Given the description of an element on the screen output the (x, y) to click on. 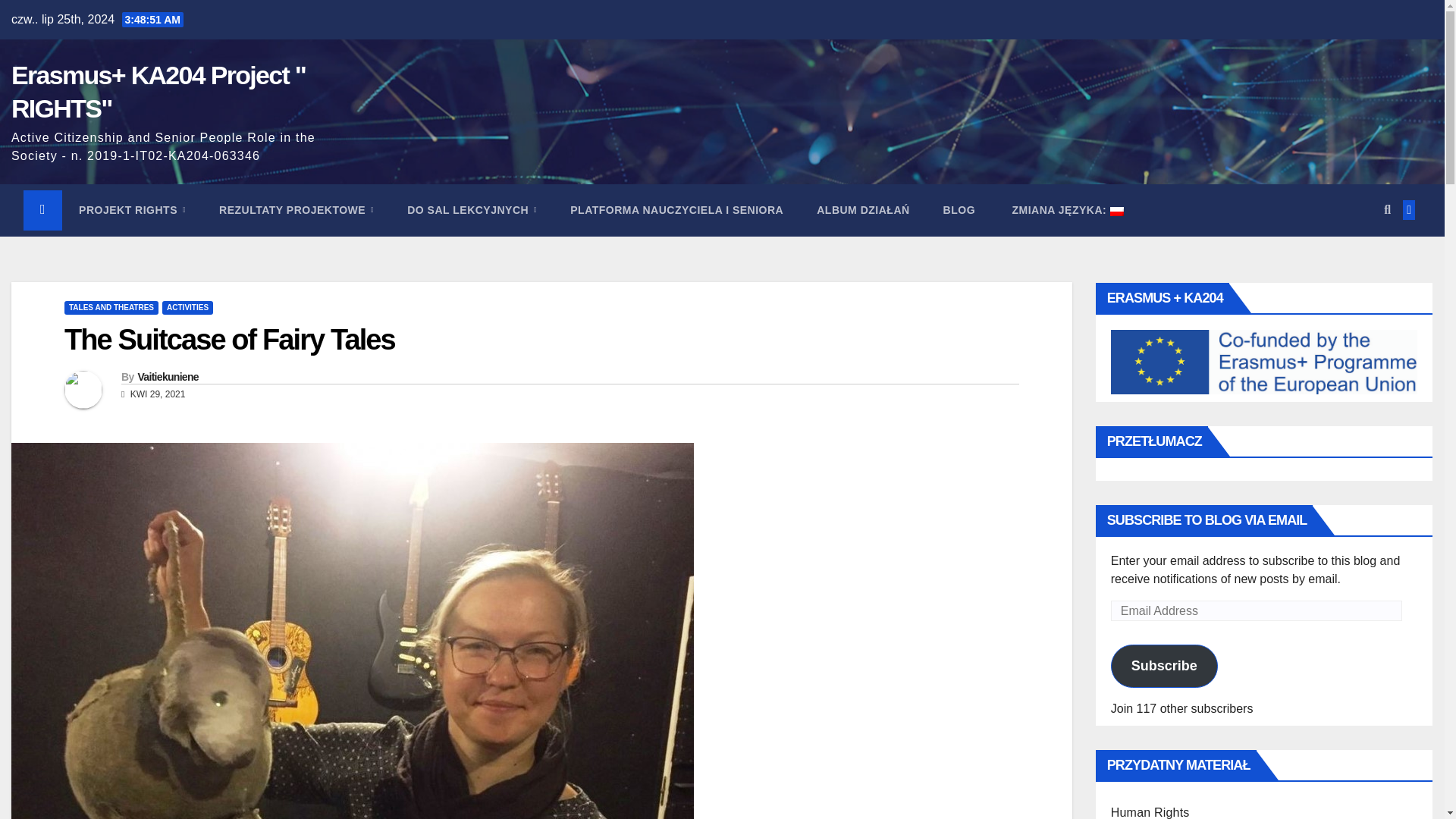
Rezultaty projektowe (296, 210)
BLOG (958, 210)
PROJEKT RIGHTS (132, 210)
Projekt Rights (132, 210)
REZULTATY PROJEKTOWE (296, 210)
PLATFORMA NAUCZYCIELA I SENIORA (676, 210)
DO SAL LEKCYJNYCH (471, 210)
